Given the description of an element on the screen output the (x, y) to click on. 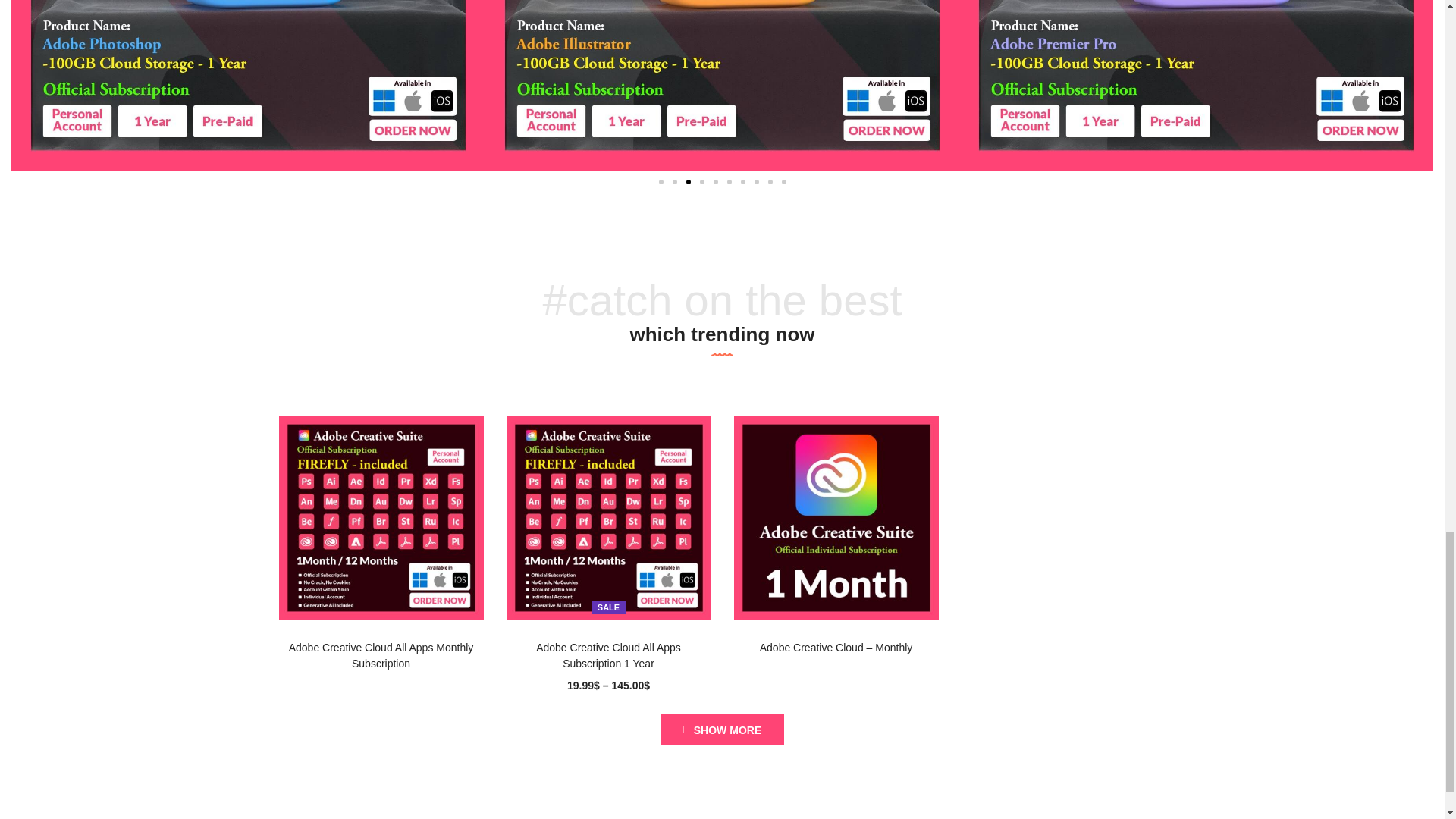
Adobe Creative Cloud All Apps Monthly Subscription (381, 655)
Adobe Creative Cloud All Apps Subscription 1 Year (608, 517)
Adobe Creative Cloud All Apps Monthly Subscription (381, 517)
